Given the description of an element on the screen output the (x, y) to click on. 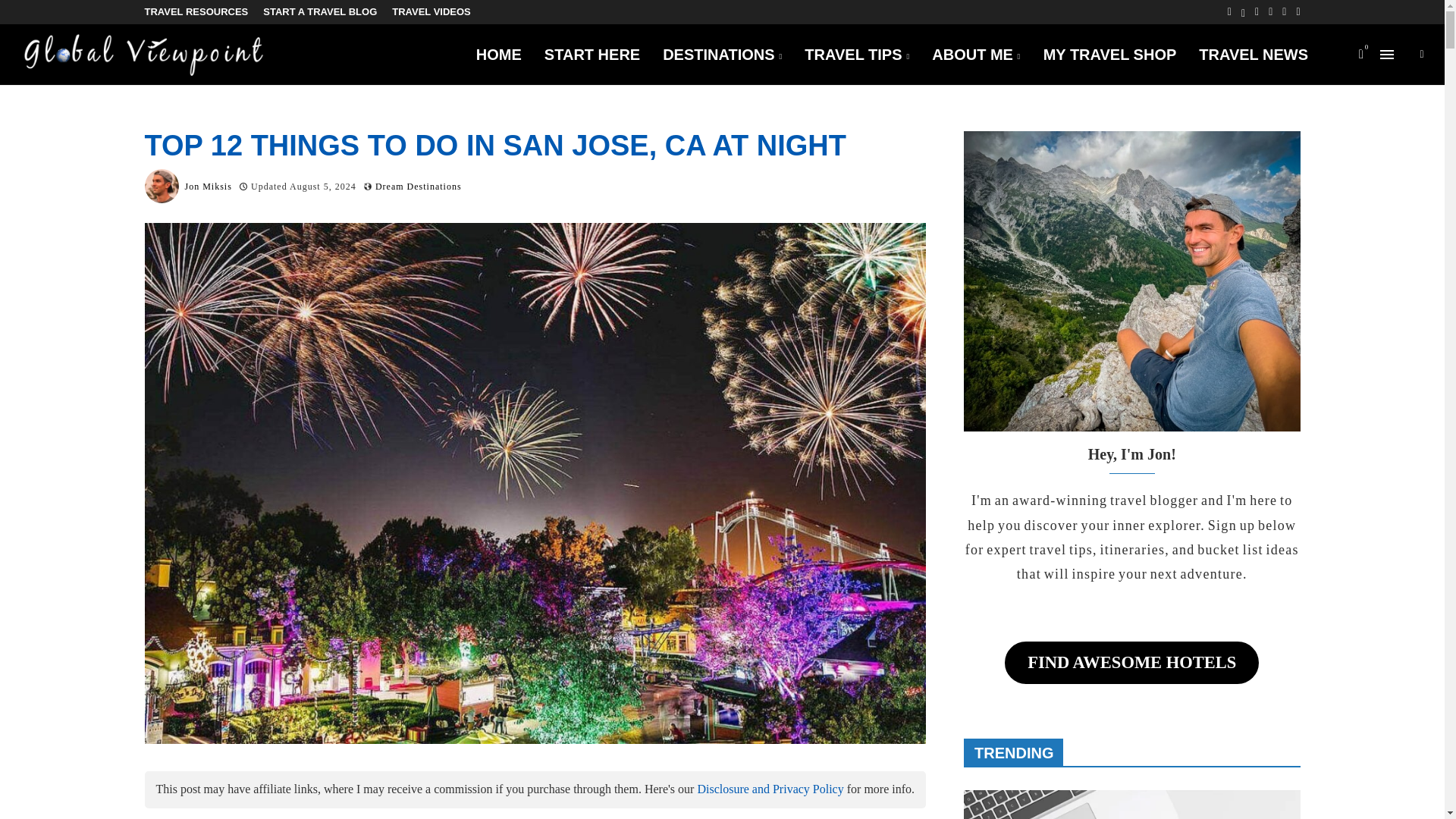
HOME (498, 54)
TRAVEL VIDEOS (430, 12)
DESTINATIONS (721, 54)
START HERE (591, 54)
MY TRAVEL SHOP (1110, 54)
TRAVEL RESOURCES (195, 12)
ABOUT ME (975, 54)
START A TRAVEL BLOG (320, 12)
Dream Destinations (418, 185)
Jon Miksis (207, 185)
